Given the description of an element on the screen output the (x, y) to click on. 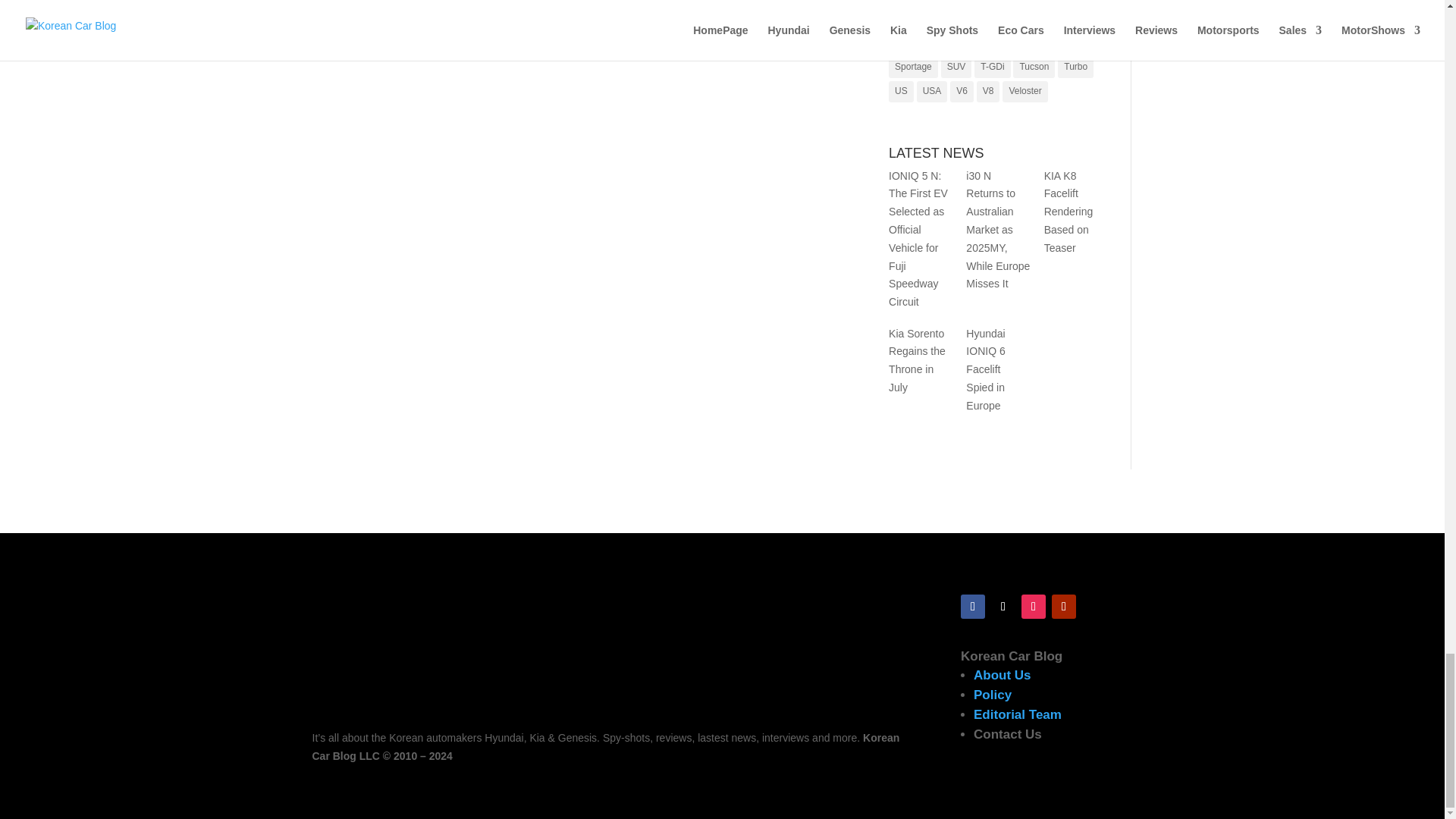
Follow on Facebook (972, 606)
Follow on Instagram (1033, 606)
Follow on X (1002, 606)
